Given the description of an element on the screen output the (x, y) to click on. 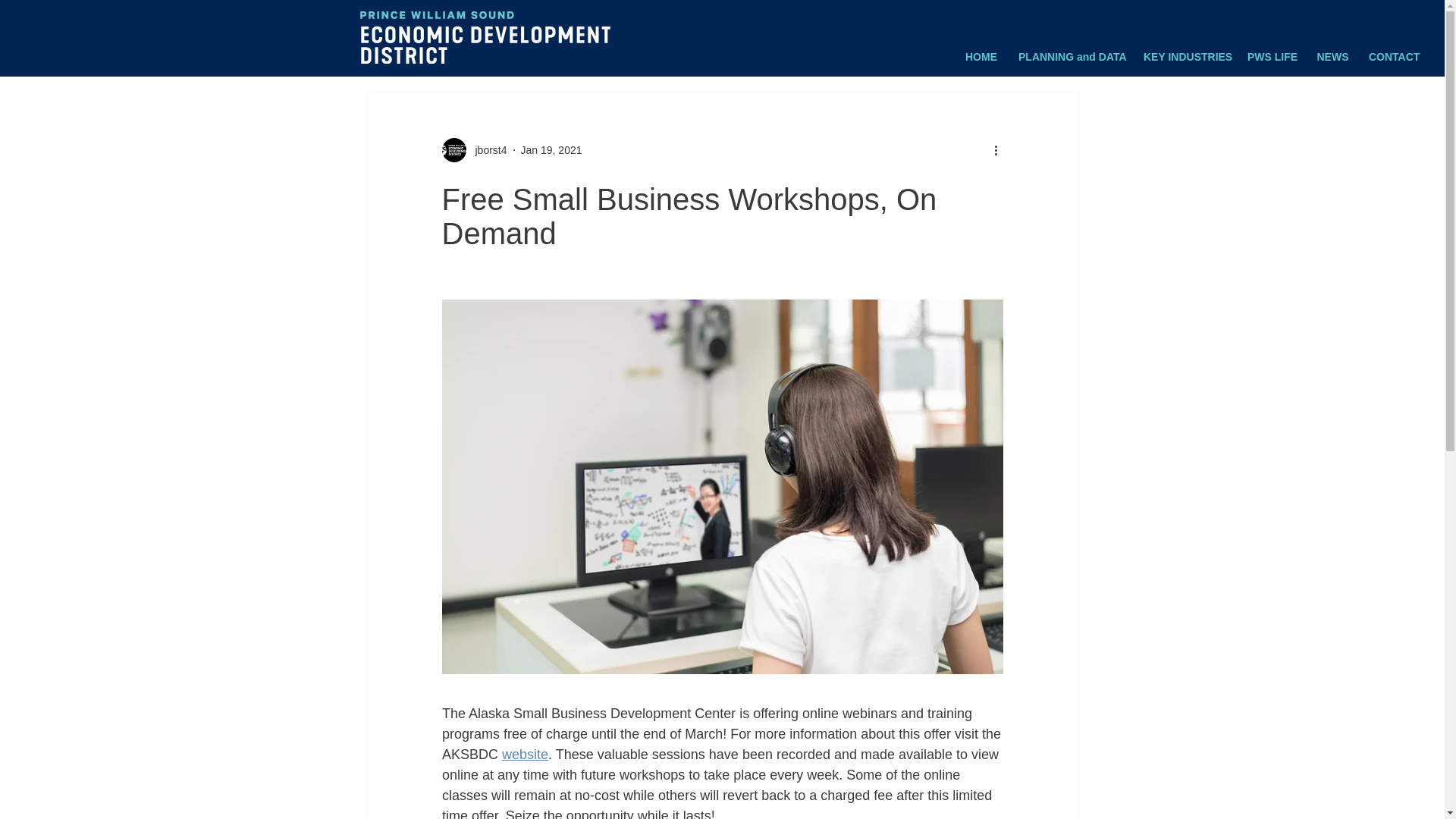
HOME (981, 50)
jborst4 (485, 150)
PLANNING and DATA (1071, 50)
CONTACT (1393, 50)
Jan 19, 2021 (551, 150)
NEWS (1332, 50)
KEY INDUSTRIES (1185, 50)
PWS LIFE (1271, 50)
website (525, 754)
